Given the description of an element on the screen output the (x, y) to click on. 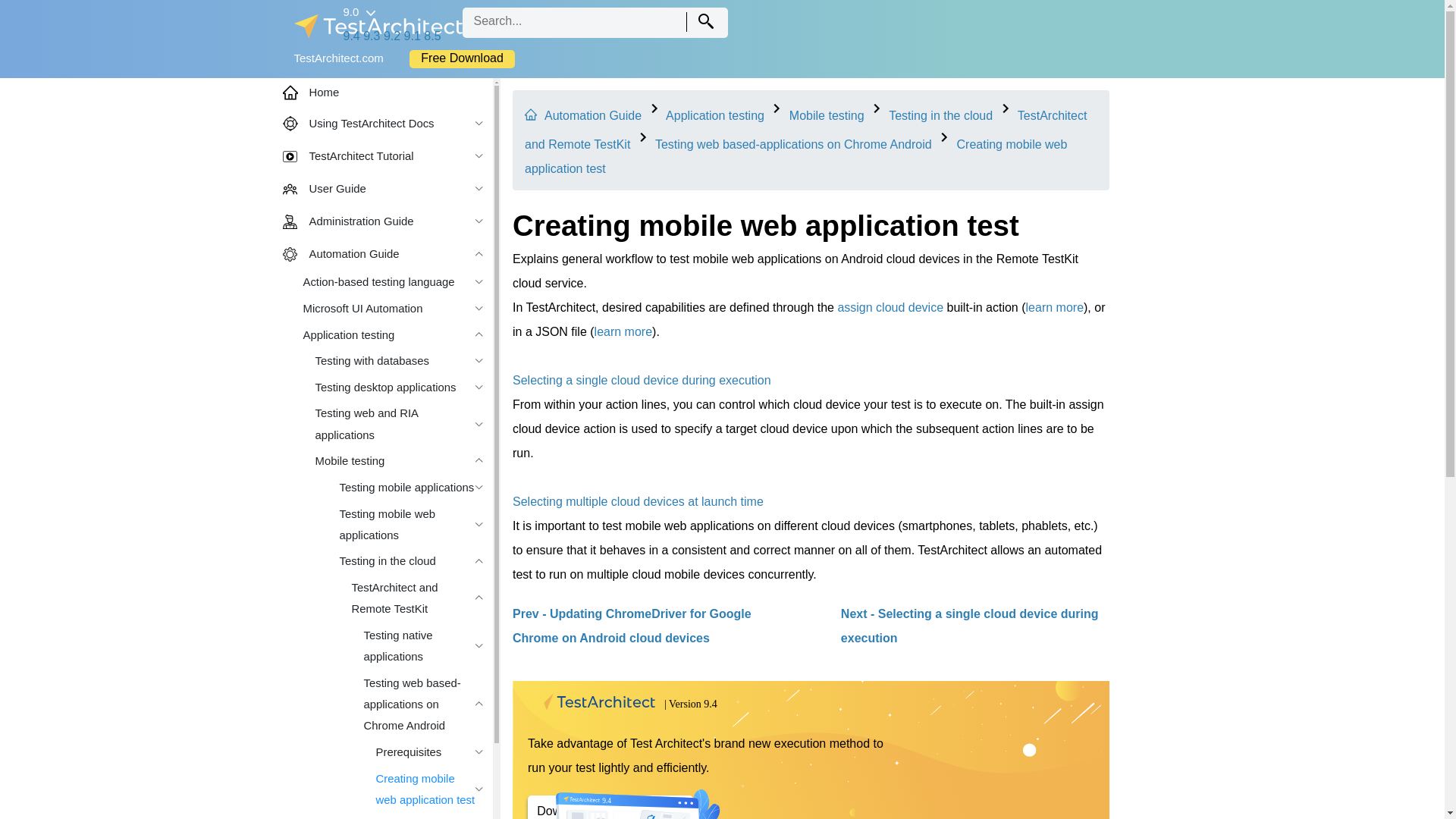
8.5 (432, 35)
9.2 (392, 35)
9.3 (371, 35)
9.1 (412, 35)
TestArchitect.com (339, 57)
Automation Guide (593, 115)
Free Download (462, 58)
9.4 (350, 35)
9.0 (358, 11)
